Given the description of an element on the screen output the (x, y) to click on. 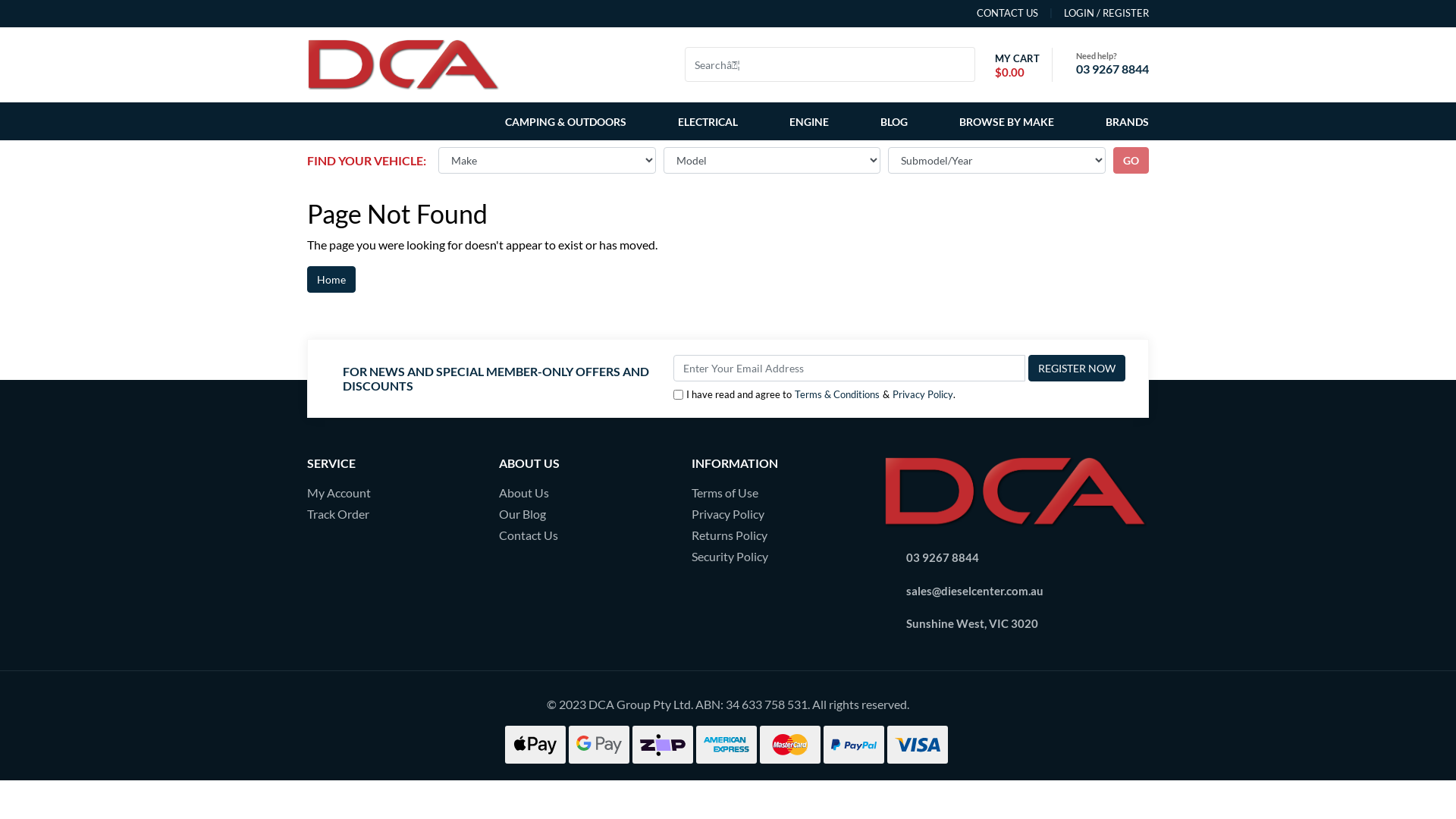
CAMPING & OUTDOORS Element type: text (568, 121)
Contact Us Element type: text (583, 535)
About Us Element type: text (583, 492)
Home Element type: text (331, 279)
sales@dieselcenter.com.au Element type: text (974, 590)
03 9267 8844 Element type: text (1112, 68)
REGISTER NOW Element type: text (1076, 367)
Search Element type: text (965, 64)
Terms & Conditions Element type: text (836, 394)
CONTACT US Element type: text (1007, 13)
ELECTRICAL Element type: text (707, 121)
Terms of Use Element type: text (775, 492)
Privacy Policy Element type: text (775, 513)
My Account Element type: text (391, 492)
Privacy Policy Element type: text (922, 394)
GO Element type: text (1130, 160)
03 9267 8844 Element type: text (942, 557)
BLOG Element type: text (893, 121)
Returns Policy Element type: text (775, 535)
BRANDS Element type: text (1123, 121)
DCA Group Pty Ltd Element type: hover (403, 62)
LOGIN / REGISTER Element type: text (1093, 13)
Security Policy Element type: text (775, 556)
Our Blog Element type: text (583, 513)
Track Order Element type: text (391, 513)
MY CART
$0.00 Element type: text (1013, 64)
ENGINE Element type: text (808, 121)
BROWSE BY MAKE Element type: text (1006, 121)
